Given the description of an element on the screen output the (x, y) to click on. 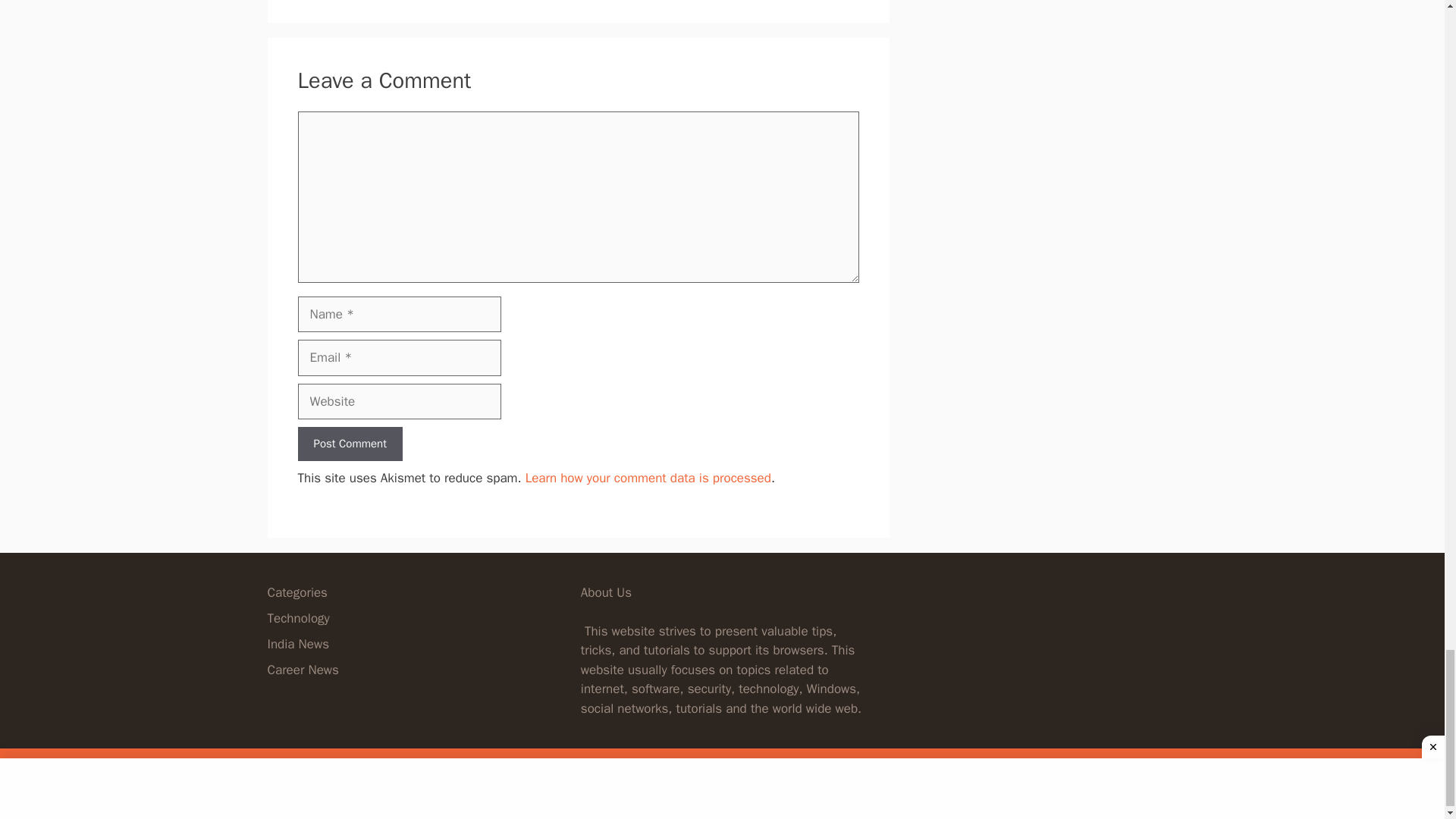
Post Comment (349, 443)
